Given the description of an element on the screen output the (x, y) to click on. 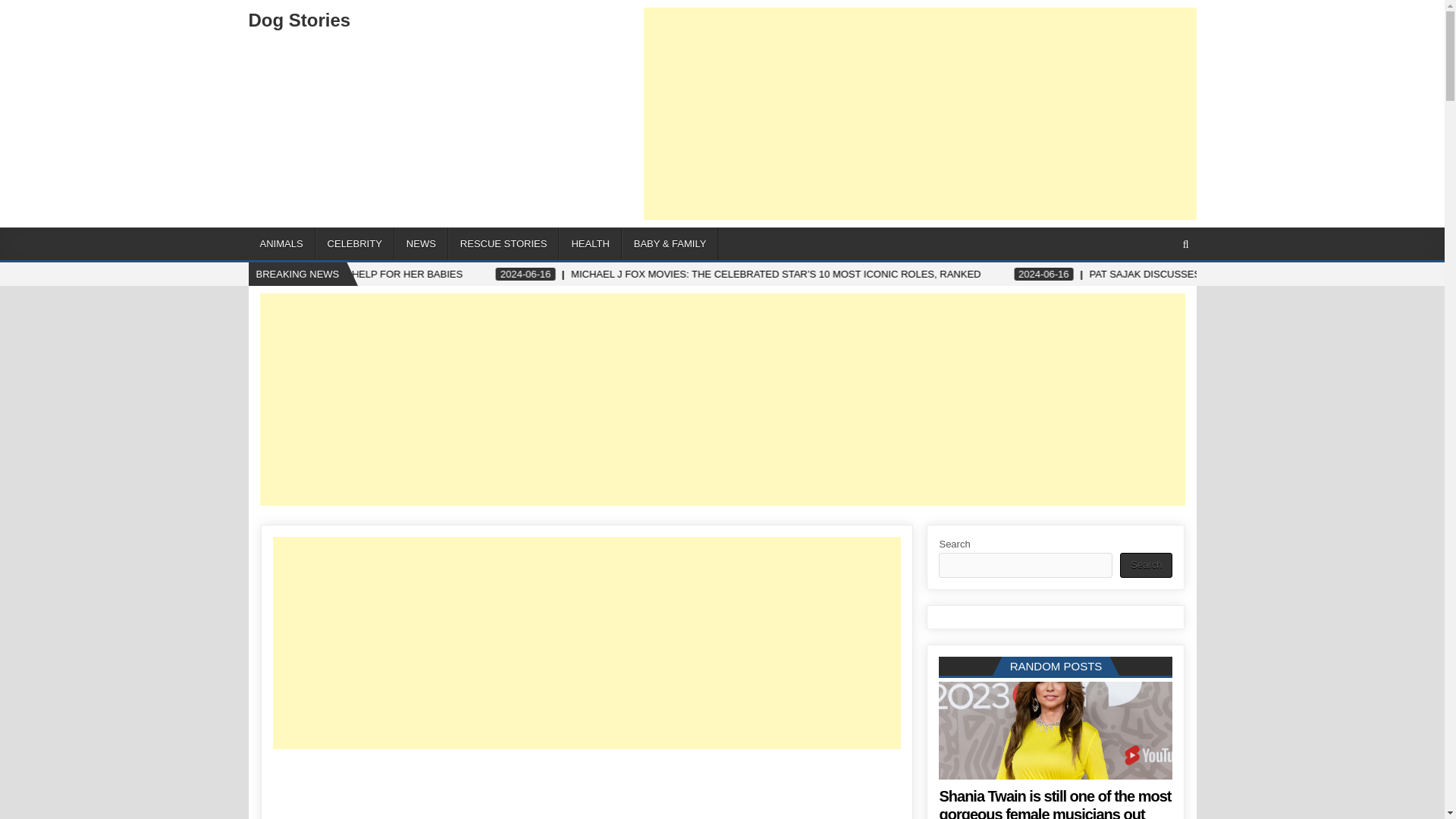
ANIMALS (281, 243)
HEALTH (590, 243)
Dog Stories (299, 19)
RESCUE STORIES (503, 243)
CELEBRITY (354, 243)
NEWS (421, 243)
Advertisement (919, 113)
